Given the description of an element on the screen output the (x, y) to click on. 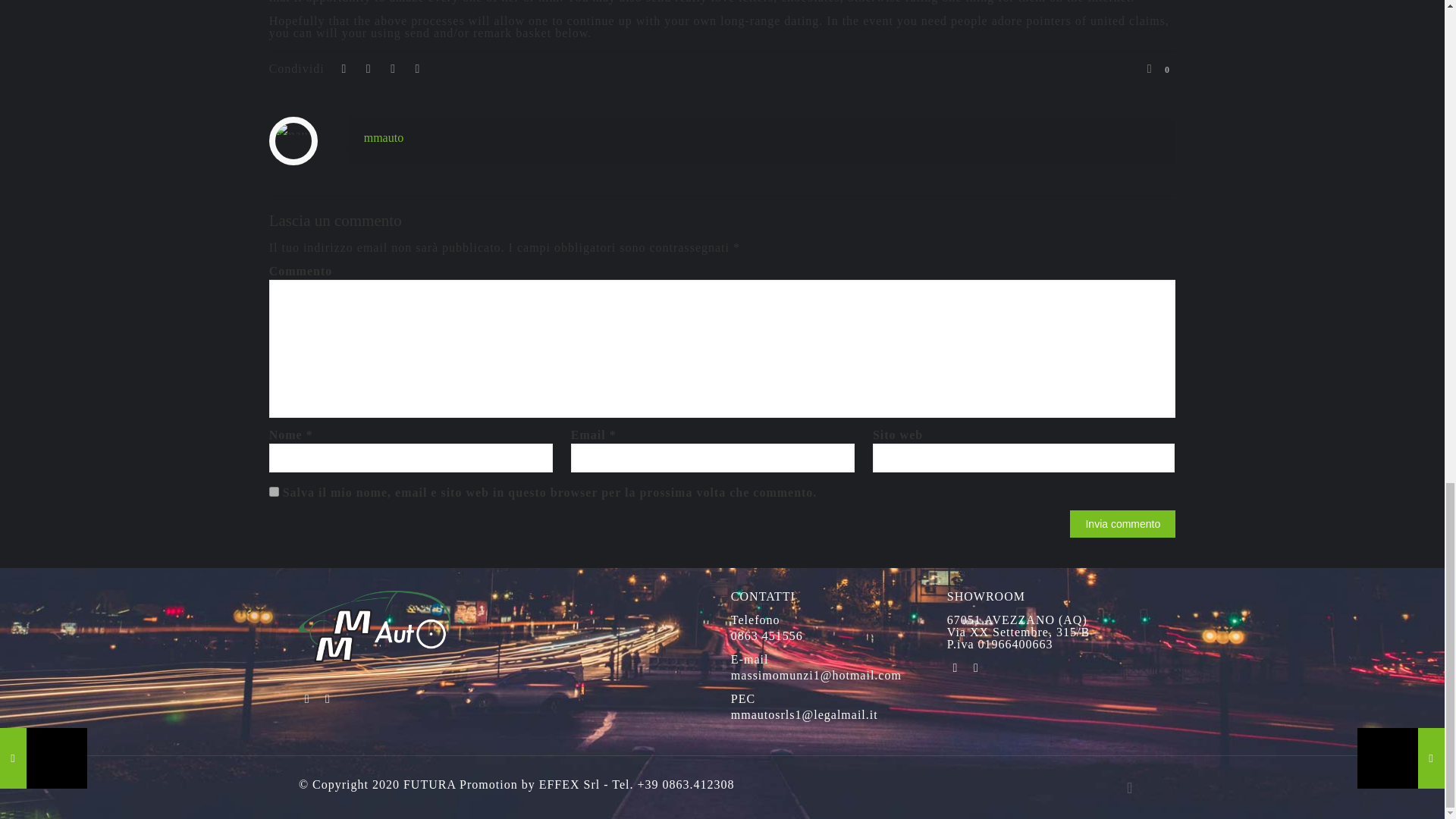
yes (274, 491)
mmauto (383, 137)
0 (1157, 69)
Invia commento (1122, 523)
Invia commento (1122, 523)
